Given the description of an element on the screen output the (x, y) to click on. 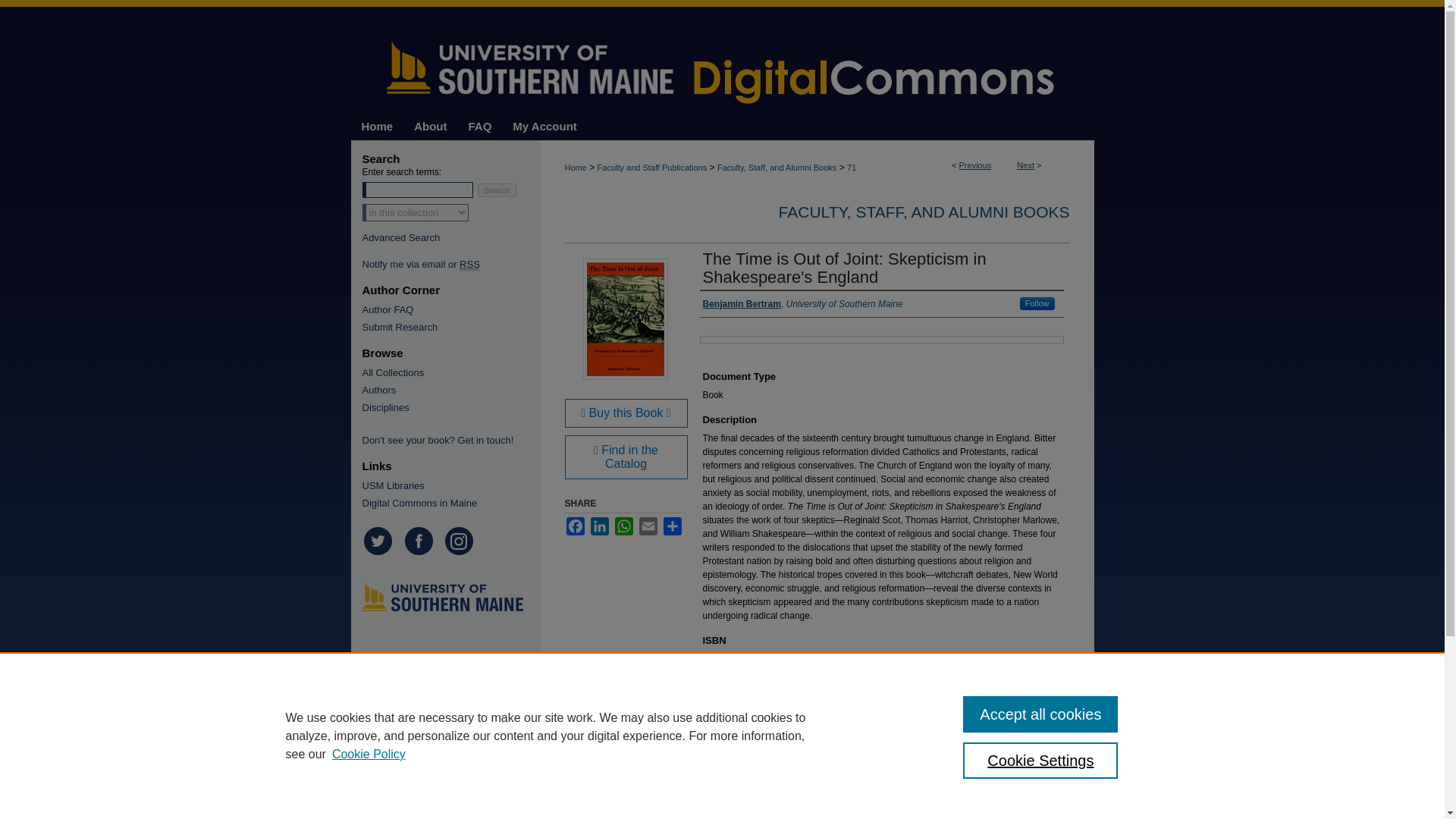
Find in the Catalog (625, 456)
About (430, 126)
Author FAQ (447, 309)
71 (851, 166)
All Collections (447, 372)
My Account (544, 126)
Email or RSS Notifications (447, 264)
Benjamin Bertram, University of Southern Maine (801, 304)
Buy this Book (625, 412)
FAQ (480, 126)
FACULTY, STAFF, AND ALUMNI BOOKS (924, 211)
Don't see your book? Get in touch! (447, 439)
Find in the Catalog (625, 456)
Really Simple Syndication (470, 264)
Browse by All Collections (447, 372)
